Given the description of an element on the screen output the (x, y) to click on. 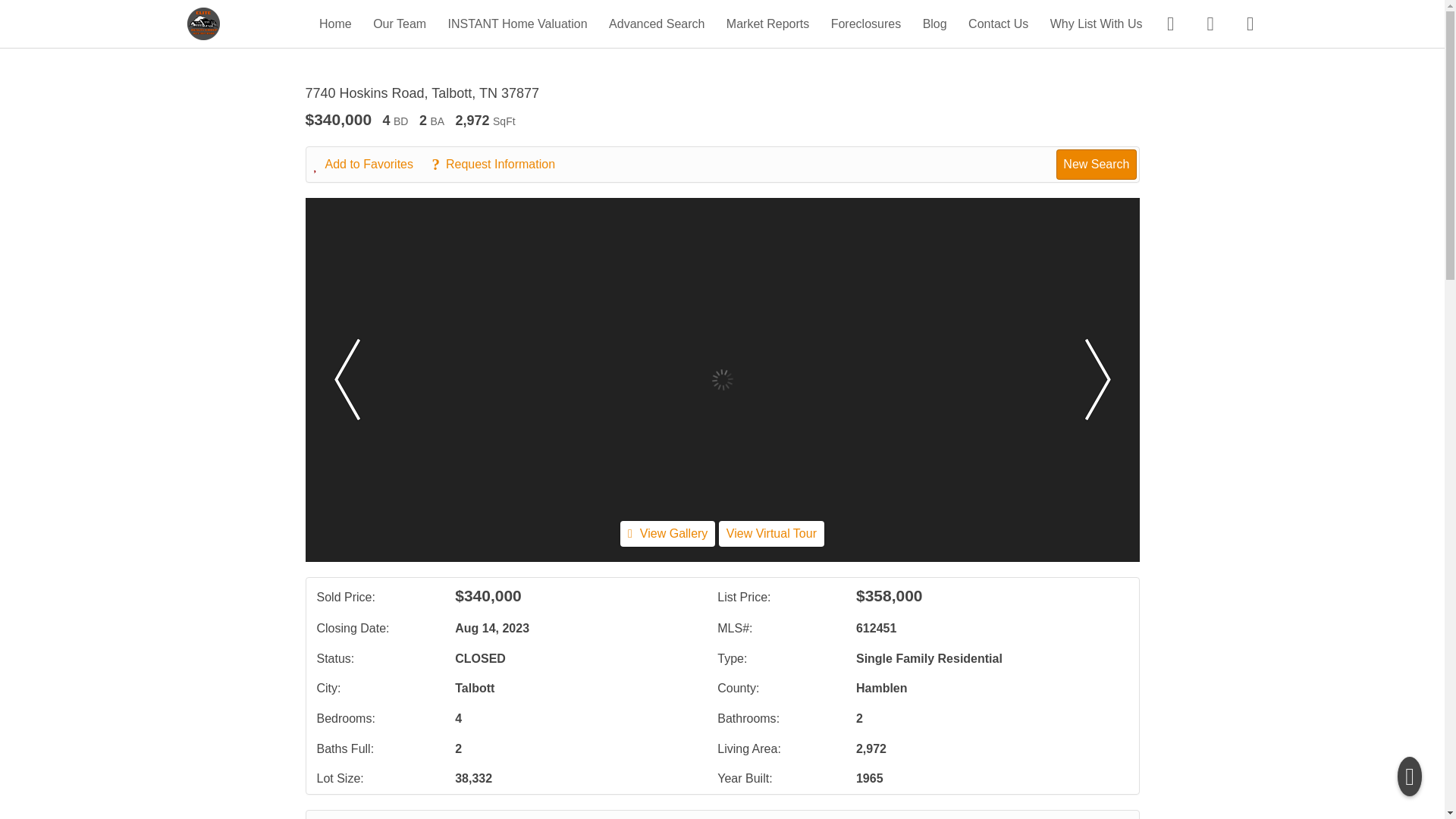
Request Information (500, 164)
Contact Us (997, 23)
New Search (1096, 164)
Add to Favorites (371, 164)
View on Map (521, 817)
Advanced Search (656, 23)
Why List With Us (1095, 23)
Foreclosures (866, 23)
New Search (1090, 817)
View Virtual Tour (771, 533)
